Given the description of an element on the screen output the (x, y) to click on. 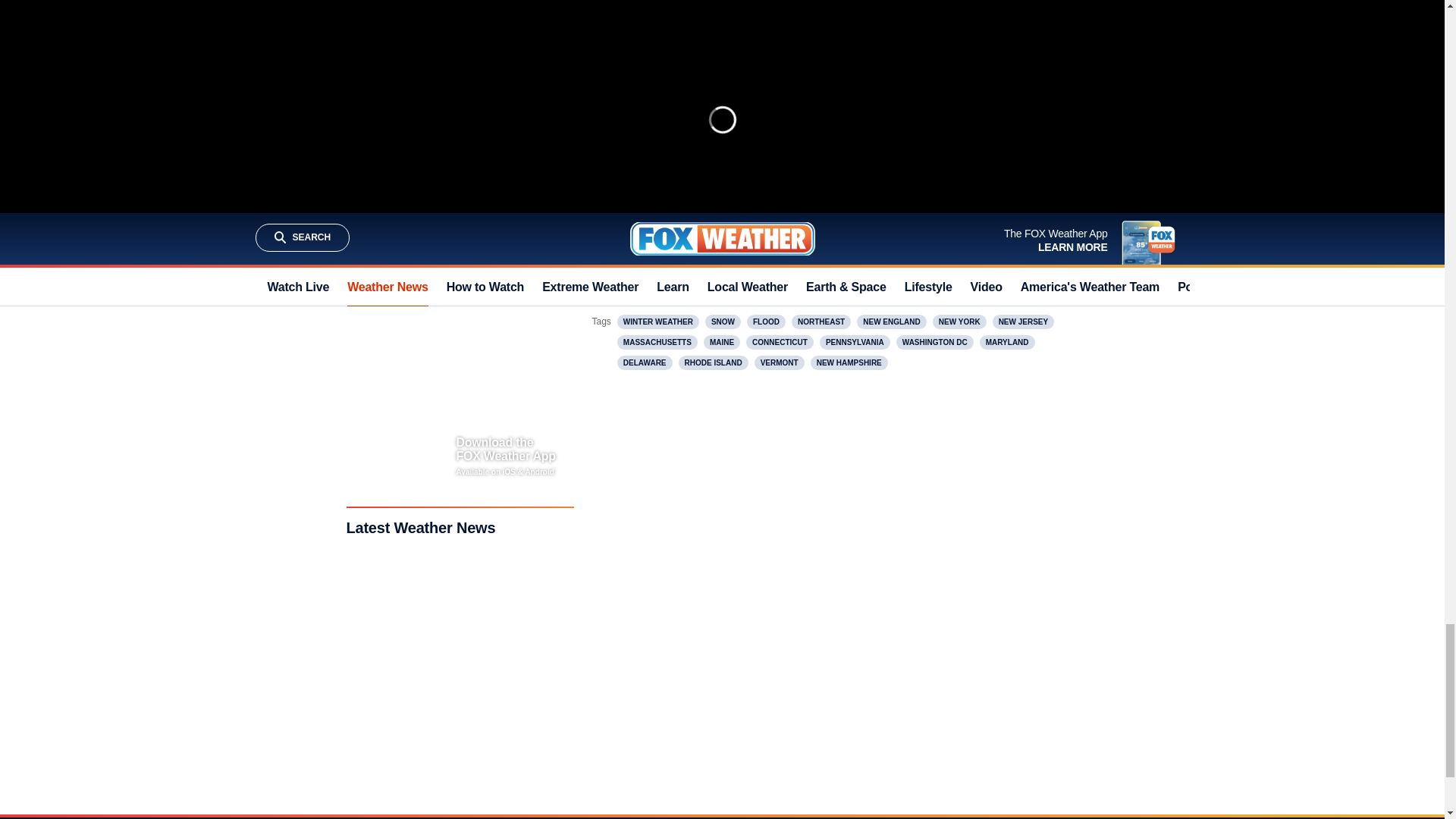
FLOOD (766, 321)
SNOW (722, 321)
NORTHEAST (821, 321)
WINTER WEATHER (657, 321)
NEW ENGLAND (891, 321)
